Given the description of an element on the screen output the (x, y) to click on. 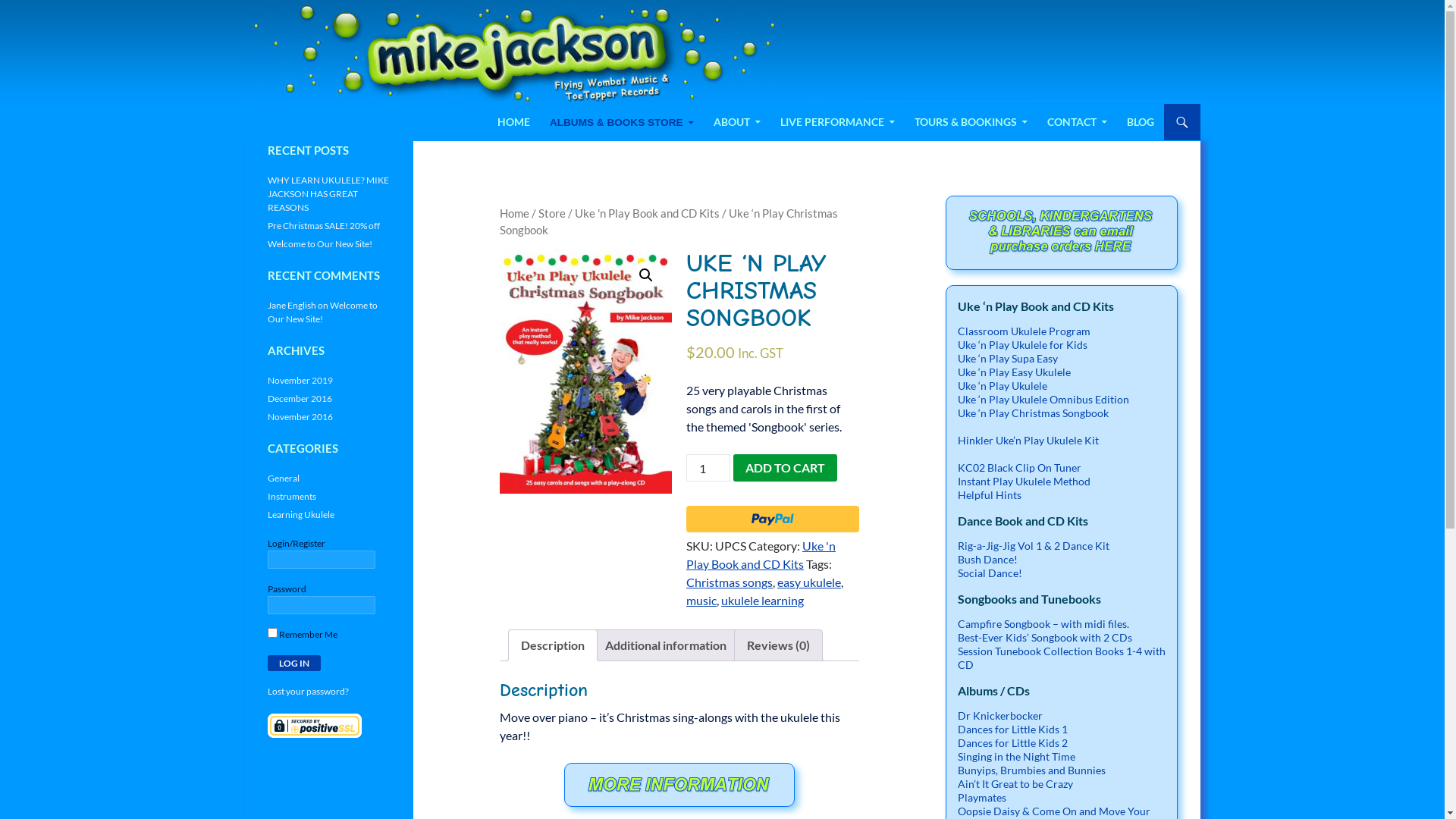
November 2016 Element type: text (299, 416)
Lost your password? Element type: text (307, 690)
Store Element type: text (551, 212)
Mike Jackson, Family Entertainment, Learn Ukulele Element type: text (415, 121)
music Element type: text (701, 600)
Pre Christmas SALE! 20% off Element type: text (322, 225)
Welcome to Our New Site! Element type: text (321, 311)
Social Dance! Element type: text (989, 572)
Uke 'n Play Book and CD Kits Element type: text (760, 554)
BLOG Element type: text (1140, 121)
Rig-a-Jig-Jig Vol 1 & 2 Dance Kit Element type: text (1032, 545)
Bush Dance! Element type: text (986, 558)
General Element type: text (282, 477)
Mike Jackson's Uke 'n Play Christmas Songbook Element type: hover (584, 371)
LIVE PERFORMANCE Element type: text (836, 121)
Uke 'n Play Book and CD Kits Element type: text (646, 212)
SKIP TO CONTENT Element type: text (496, 103)
Dr Knickerbocker Element type: text (999, 715)
Dances for Little Kids 1 Element type: text (1011, 728)
TOURS & BOOKINGS Element type: text (970, 121)
easy ukulele Element type: text (808, 581)
WHY LEARN UKULELE? MIKE JACKSON HAS GREAT REASONS Element type: text (327, 193)
Classroom Ukulele Program Element type: text (1023, 330)
Learning Ukulele Element type: text (299, 514)
Description Element type: text (551, 645)
Search Element type: text (247, 103)
Welcome to Our New Site! Element type: text (318, 243)
ALBUMS & BOOKS STORE Element type: text (621, 122)
HOME Element type: text (513, 121)
Home Element type: text (513, 212)
Playmates Element type: text (981, 796)
ukulele learning Element type: text (762, 600)
Reviews (0) Element type: text (777, 645)
November 2019 Element type: text (299, 379)
CONTACT Element type: text (1076, 121)
Log In Element type: text (293, 663)
ABOUT Element type: text (735, 121)
Instruments Element type: text (290, 496)
Christmas songs Element type: text (729, 581)
Session Tunebook Collection Books 1-4 with CD Element type: text (1060, 657)
Singing in the Night Time Element type: text (1015, 755)
Dances for Little Kids 2 Element type: text (1011, 742)
KC02 Black Clip On Tuner Element type: text (1018, 467)
PayPal Element type: hover (772, 518)
Instant Play Ukulele Method Element type: text (1023, 480)
December 2016 Element type: text (298, 398)
Bunyips, Brumbies and Bunnies Element type: text (1030, 769)
ADD TO CART Element type: text (785, 467)
Additional information Element type: text (665, 645)
Helpful Hints Element type: text (988, 494)
